Given the description of an element on the screen output the (x, y) to click on. 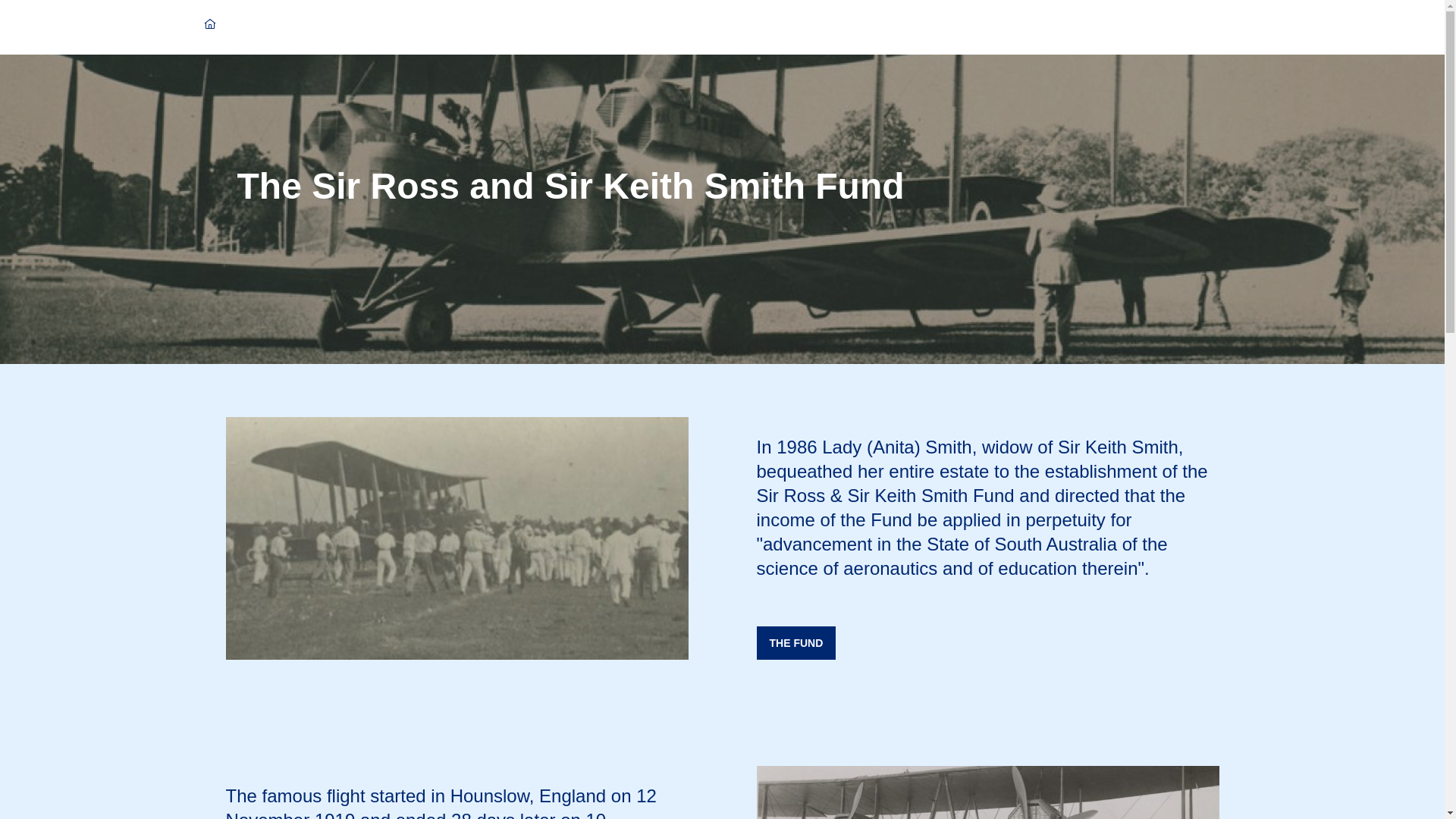
THE FUND Element type: text (796, 642)
